Given the description of an element on the screen output the (x, y) to click on. 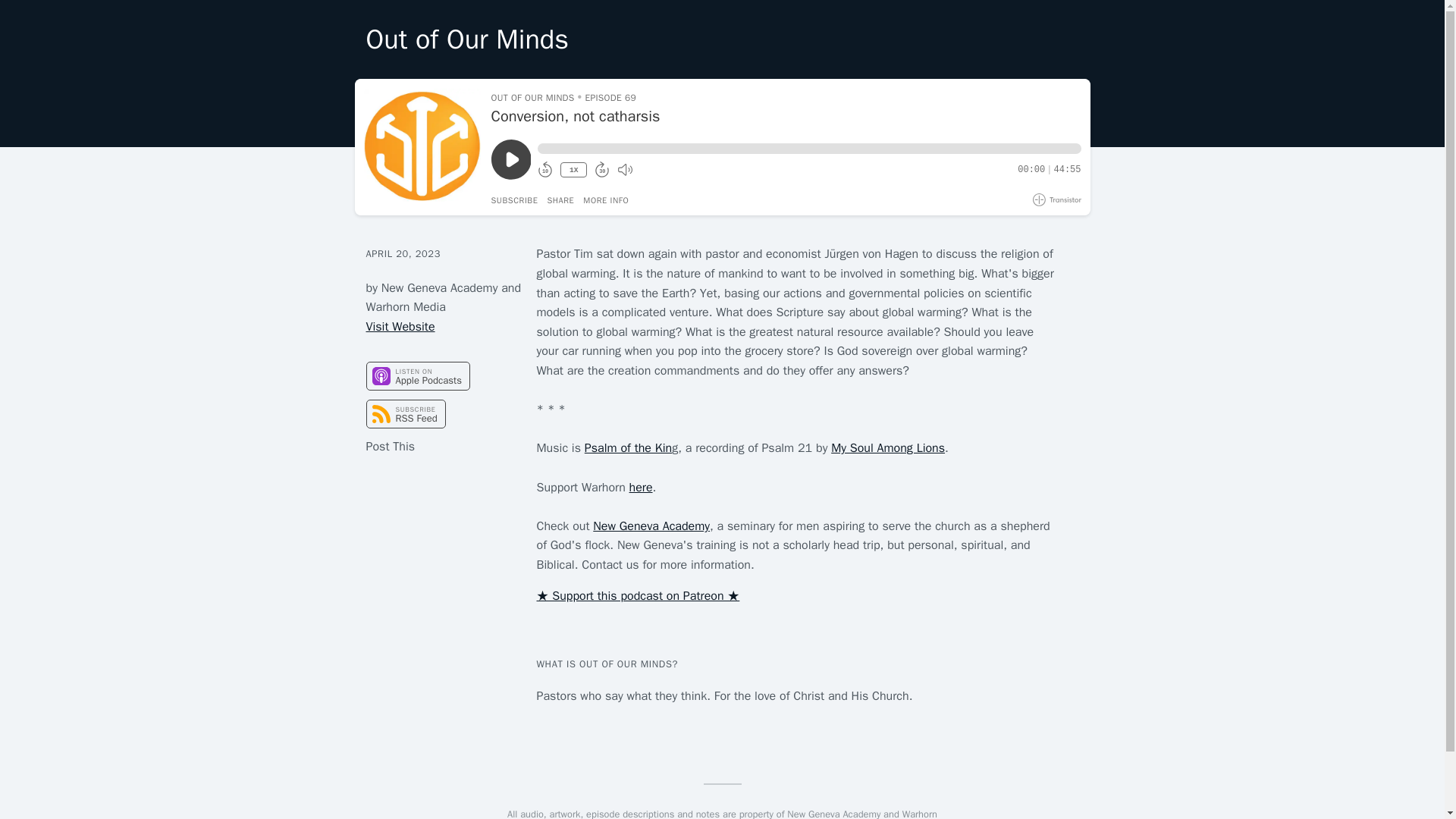
Show subscribe options (515, 200)
Show episode details (605, 200)
30 (602, 170)
Rewind 10 seconds (545, 170)
Fast Forward 30 seconds (602, 170)
Conversion, not catharsis (786, 116)
SHARE (560, 200)
1X (573, 169)
10 (545, 170)
Play (511, 159)
